Given the description of an element on the screen output the (x, y) to click on. 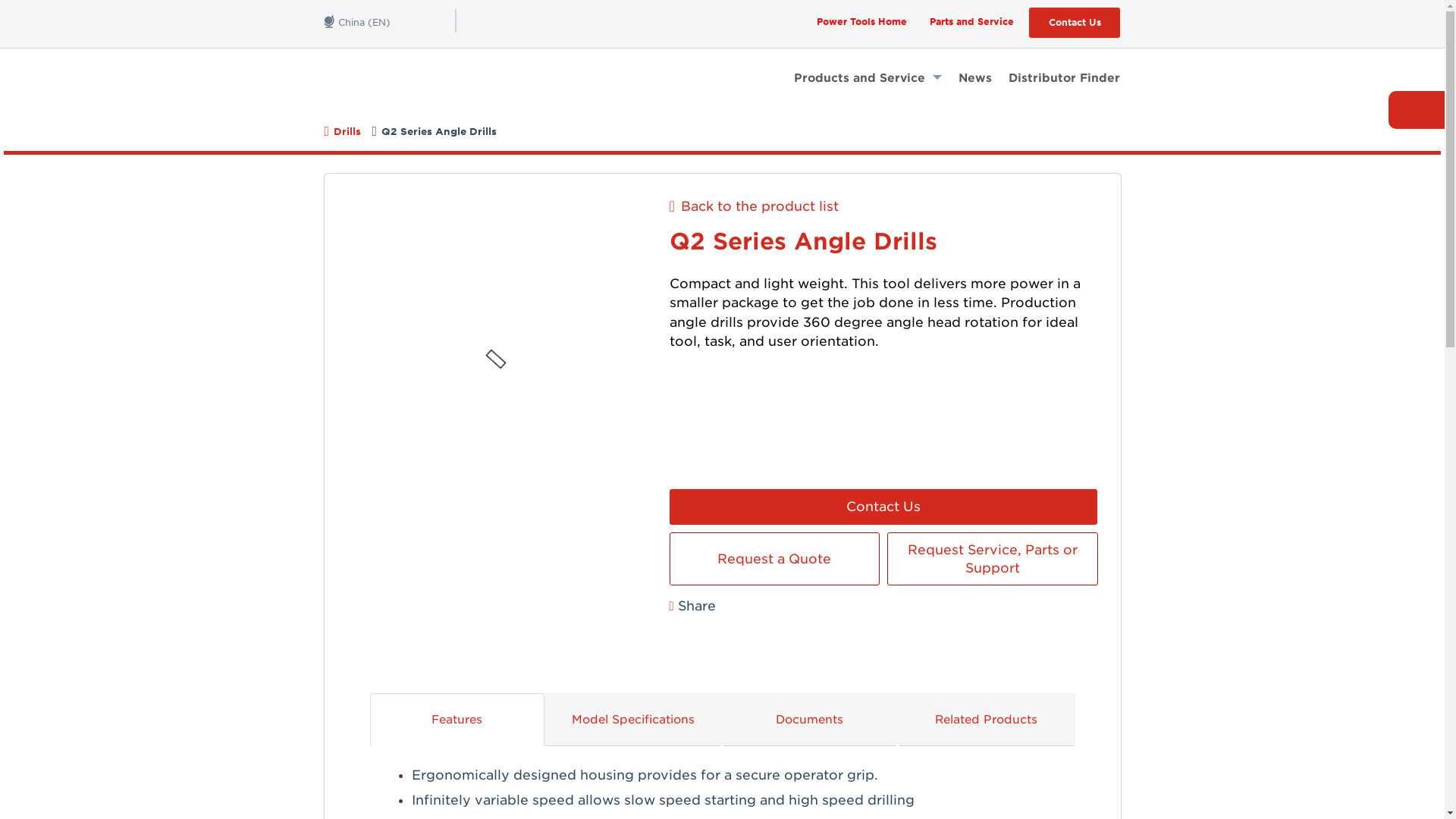
Products and Service (868, 77)
Drills (347, 131)
RegionlForm (391, 20)
Parts and Service (971, 21)
Contact Us (1074, 22)
Power Tools Home (861, 21)
Q2 Series Angle Drills (882, 244)
powertools (400, 81)
